Given the description of an element on the screen output the (x, y) to click on. 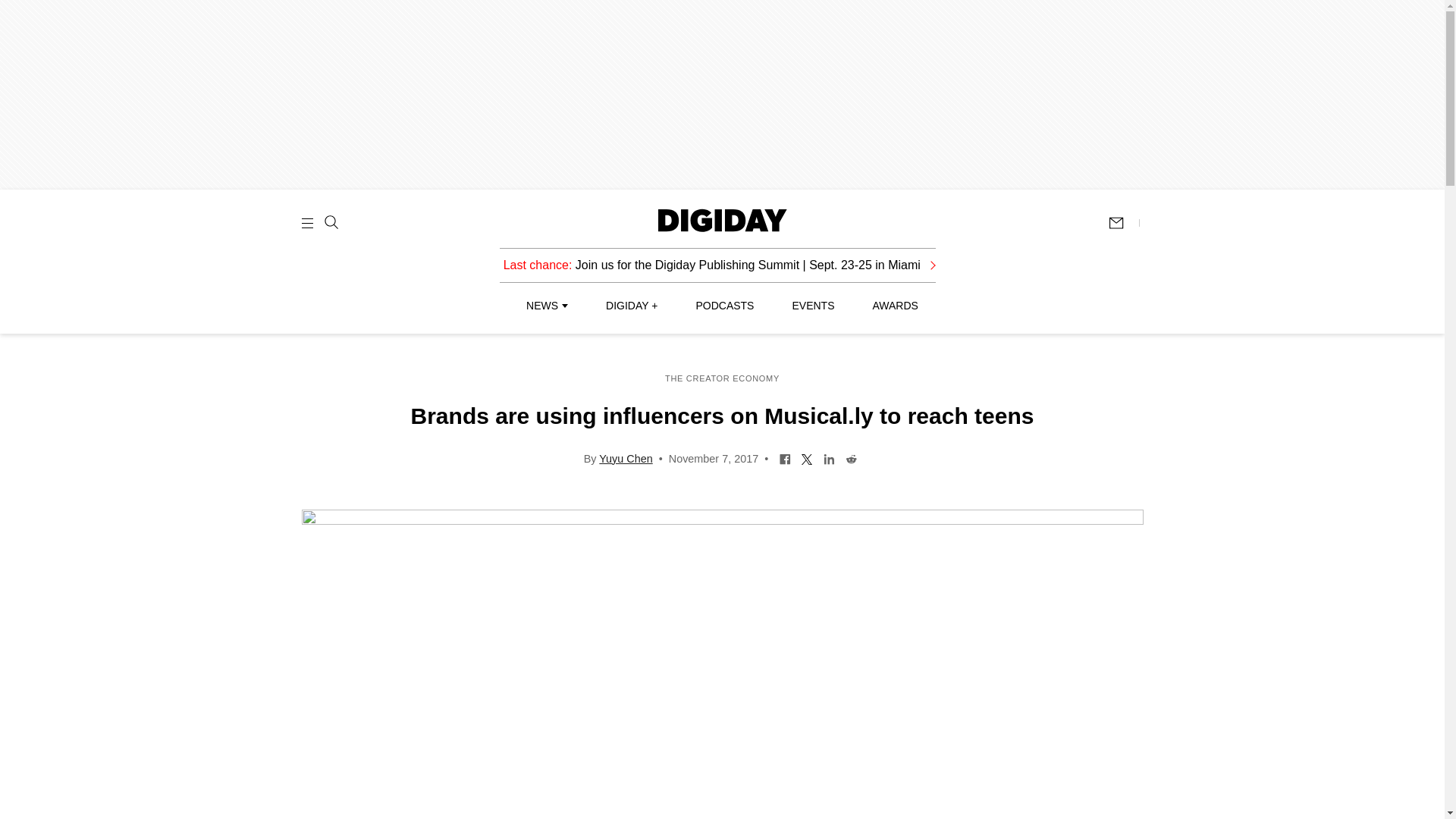
AWARDS (894, 305)
Share on Reddit (850, 458)
EVENTS (813, 305)
Subscribe (1123, 223)
Share on Twitter (806, 458)
NEWS (546, 305)
PODCASTS (725, 305)
Share on Facebook (785, 458)
Share on LinkedIn (828, 458)
